Given the description of an element on the screen output the (x, y) to click on. 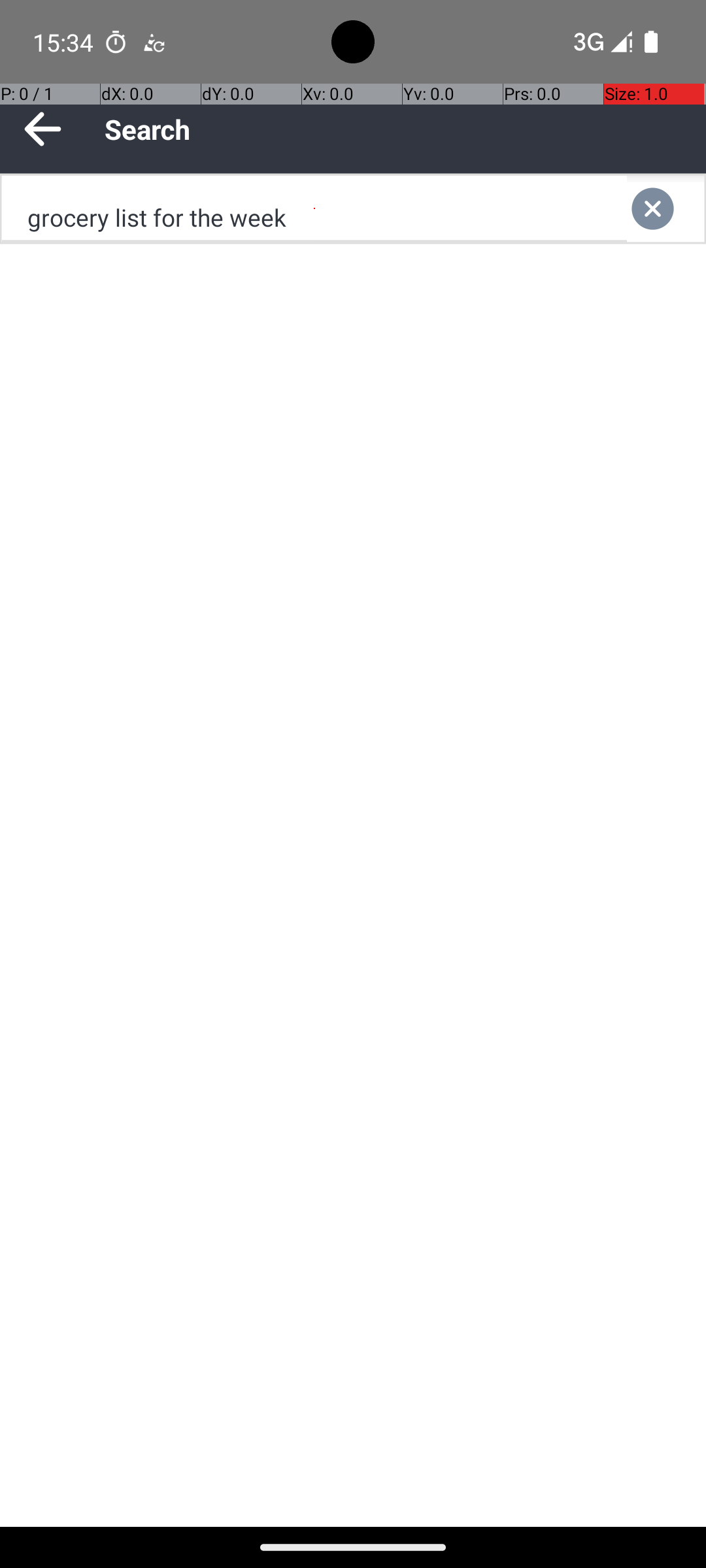
grocery list for the week Element type: android.widget.EditText (313, 208)
